Given the description of an element on the screen output the (x, y) to click on. 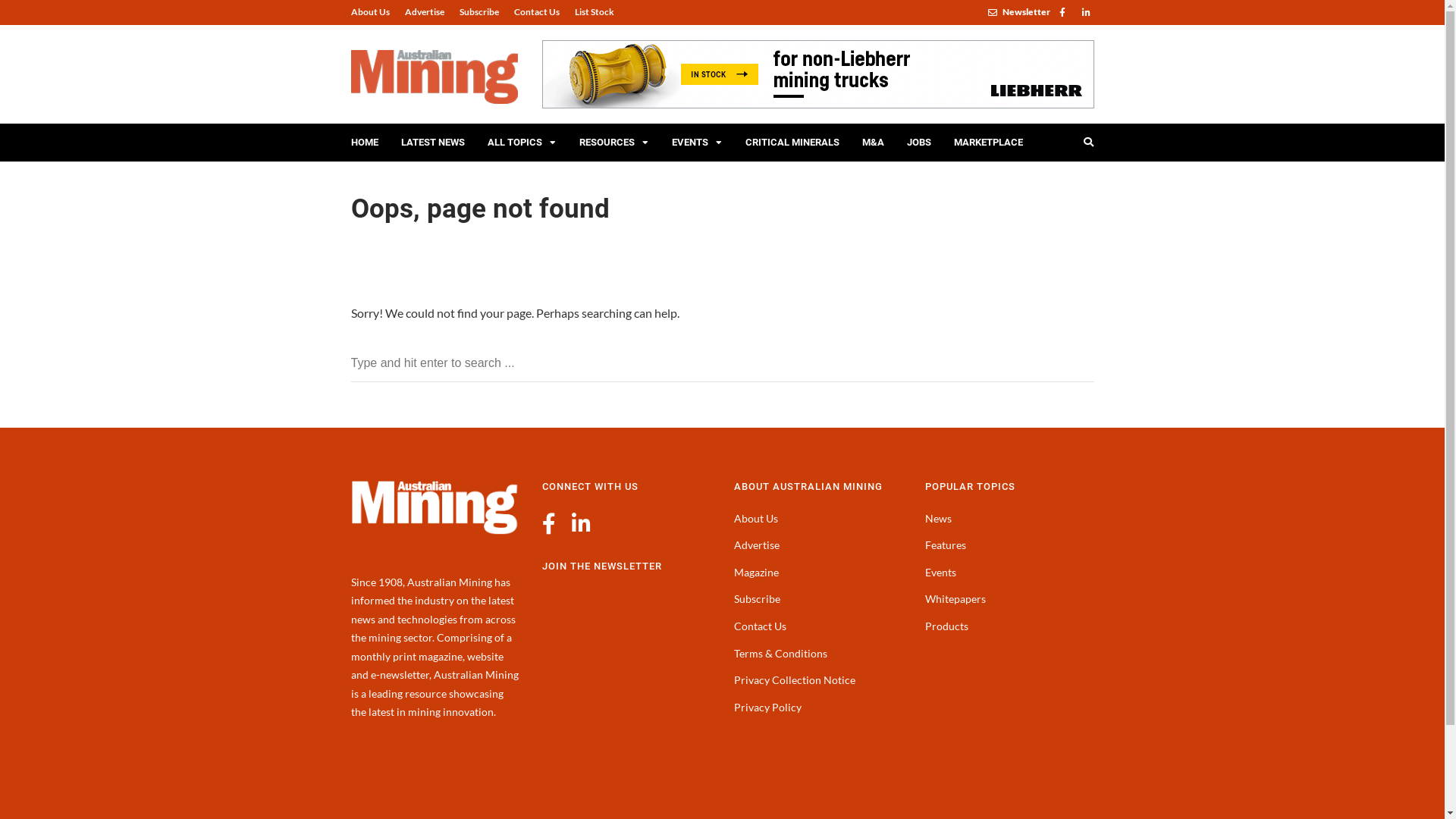
Advertise Element type: text (424, 11)
About Us Element type: text (373, 11)
JOBS Element type: text (917, 142)
Newsletter Element type: text (1018, 11)
Privacy Collection Notice Element type: text (794, 679)
LATEST NEWS Element type: text (432, 142)
3rd party ad content Element type: hover (817, 74)
Features Element type: text (945, 544)
RESOURCES Element type: text (613, 142)
Contact Us Element type: text (760, 625)
News Element type: text (938, 517)
Contact Us Element type: text (536, 11)
Whitepapers Element type: text (955, 598)
MARKETPLACE Element type: text (987, 142)
Subscribe Element type: text (478, 11)
About Us Element type: text (756, 517)
Privacy Policy Element type: text (767, 706)
Events Element type: text (940, 571)
ALL TOPICS Element type: text (521, 142)
Advertise Element type: text (756, 544)
CRITICAL MINERALS Element type: text (792, 142)
Footer Newsletter Signup Element type: hover (626, 690)
HOME Element type: text (364, 142)
M&A Element type: text (872, 142)
Magazine Element type: text (756, 571)
EVENTS Element type: text (696, 142)
List Stock Element type: text (590, 11)
Subscribe Element type: text (757, 598)
Terms & Conditions Element type: text (780, 652)
Products Element type: text (946, 625)
